Given the description of an element on the screen output the (x, y) to click on. 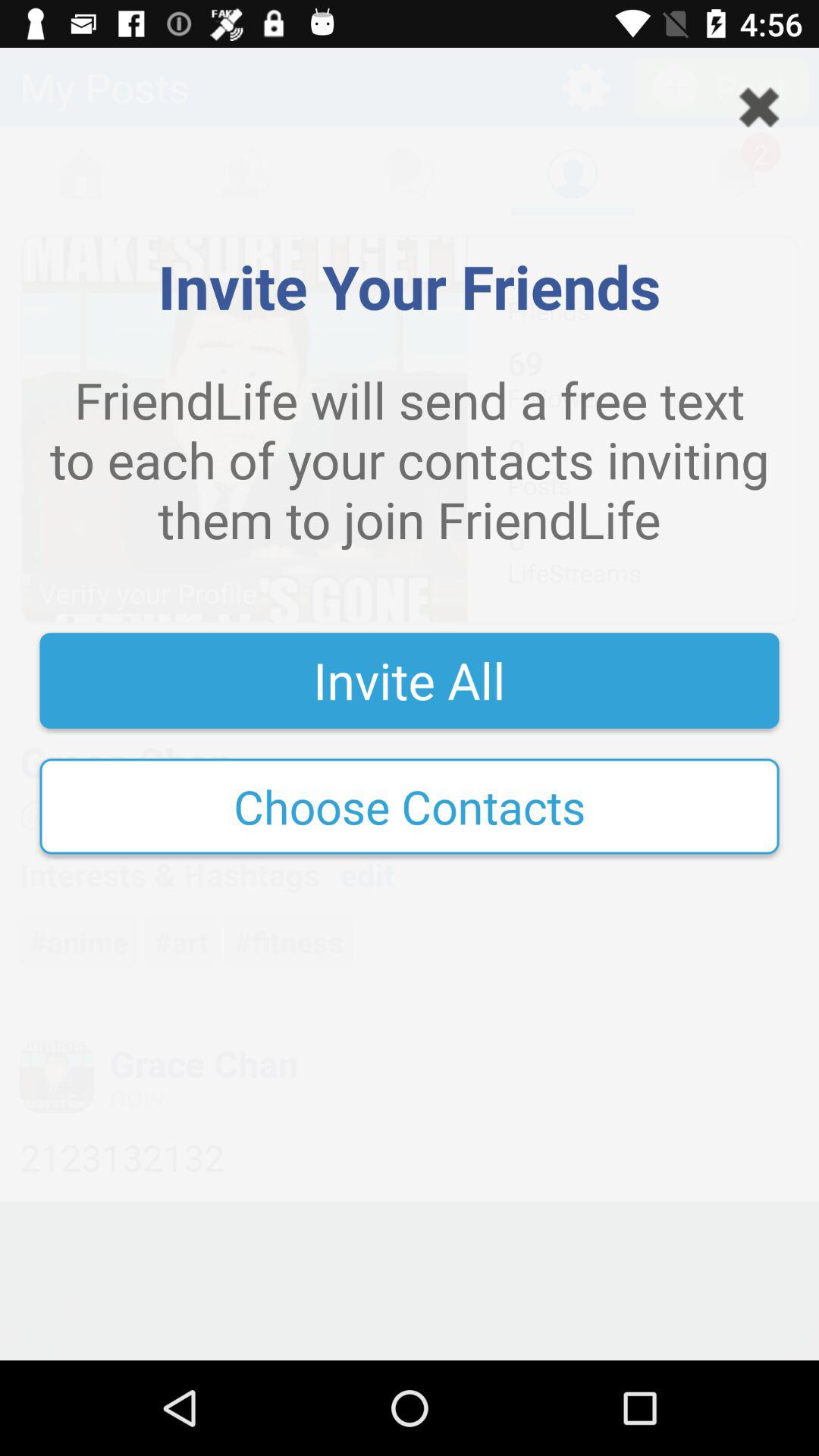
open choose contacts icon (409, 806)
